Given the description of an element on the screen output the (x, y) to click on. 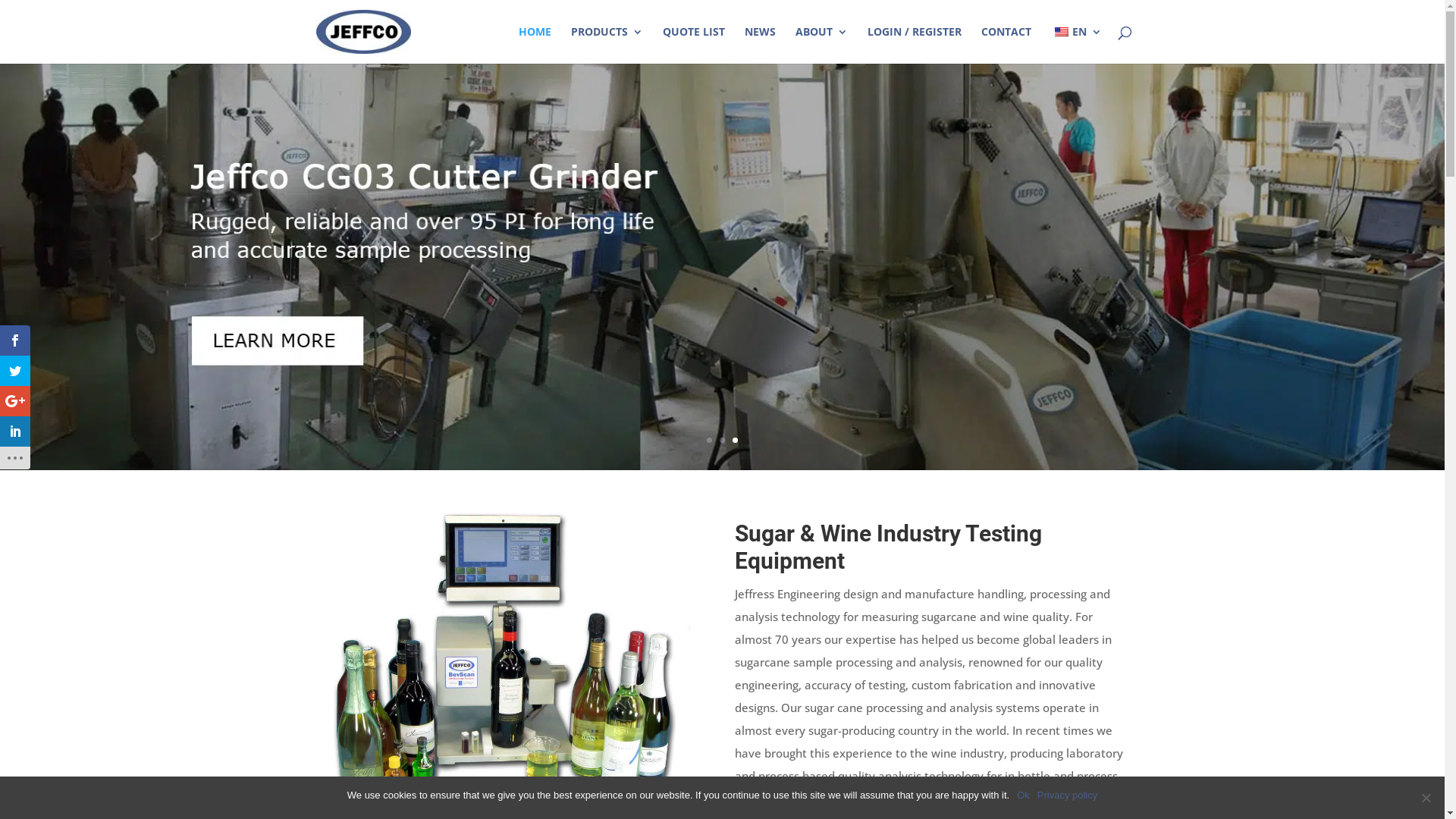
No Element type: hover (1425, 797)
EN Element type: text (1076, 44)
CONTACT Element type: text (1006, 44)
3 Element type: text (734, 439)
NEWS Element type: text (759, 44)
LOGIN / REGISTER Element type: text (914, 44)
ABOUT Element type: text (820, 44)
2 Element type: text (721, 439)
HOME Element type: text (534, 44)
PRODUCTS Element type: text (606, 44)
Ok Element type: text (1022, 795)
English Element type: hover (1060, 31)
Privacy policy Element type: text (1067, 795)
QUOTE LIST Element type: text (693, 44)
1 Element type: text (709, 439)
